Given the description of an element on the screen output the (x, y) to click on. 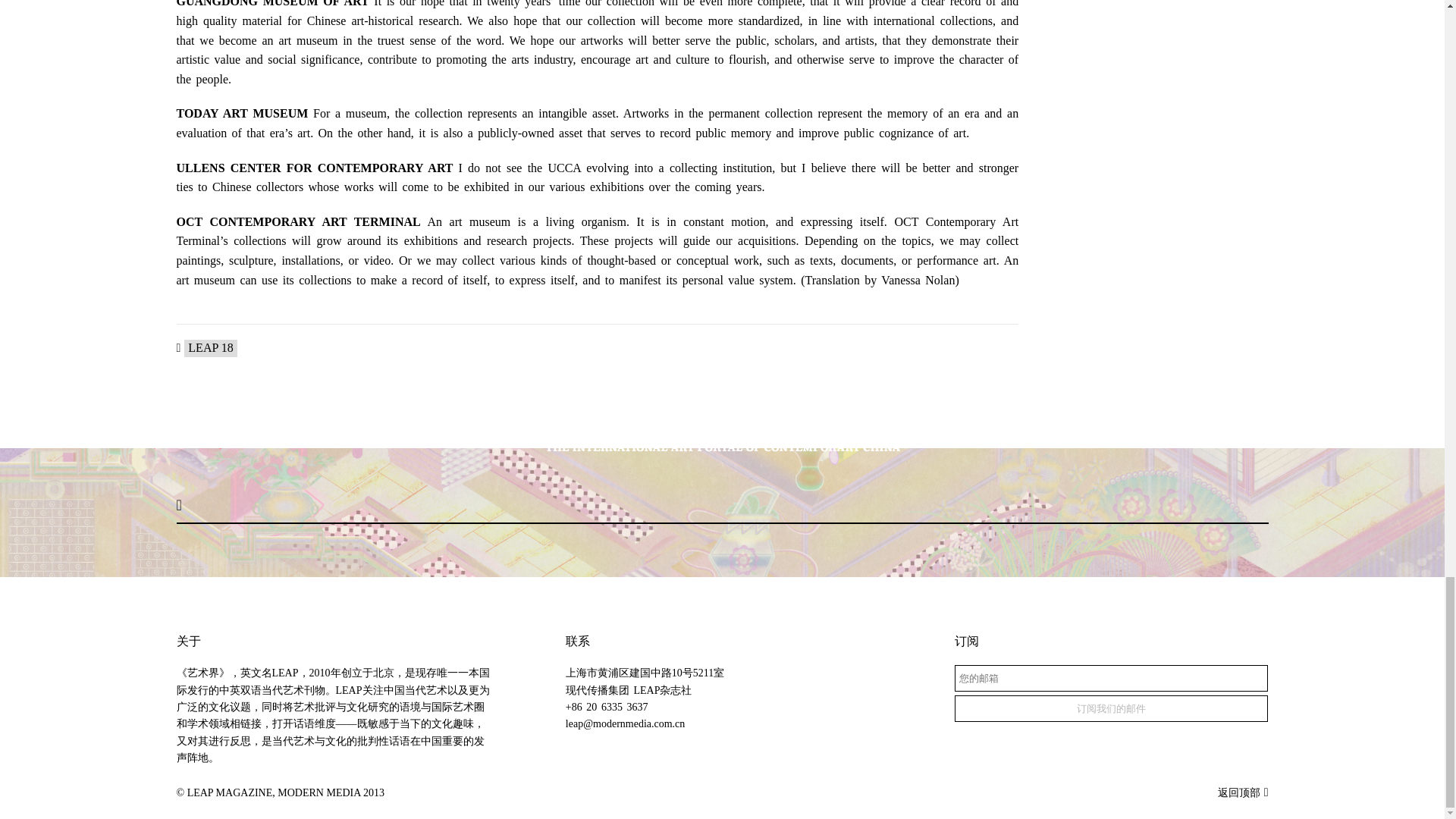
LEAP 18 (209, 348)
